Given the description of an element on the screen output the (x, y) to click on. 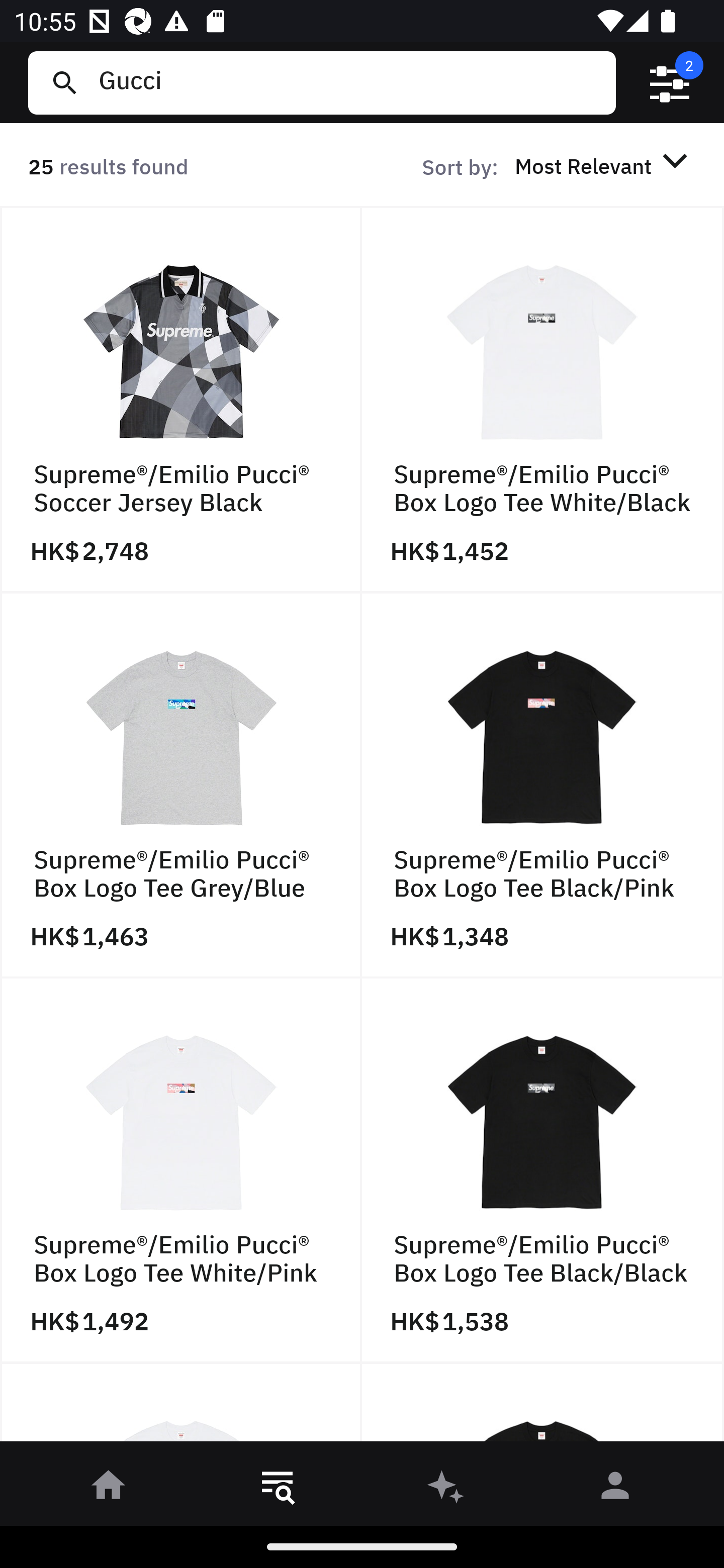
Gucci (349, 82)
 (669, 82)
Most Relevant  (604, 165)
󰋜 (108, 1488)
󱎸 (277, 1488)
󰫢 (446, 1488)
󰀄 (615, 1488)
